Given the description of an element on the screen output the (x, y) to click on. 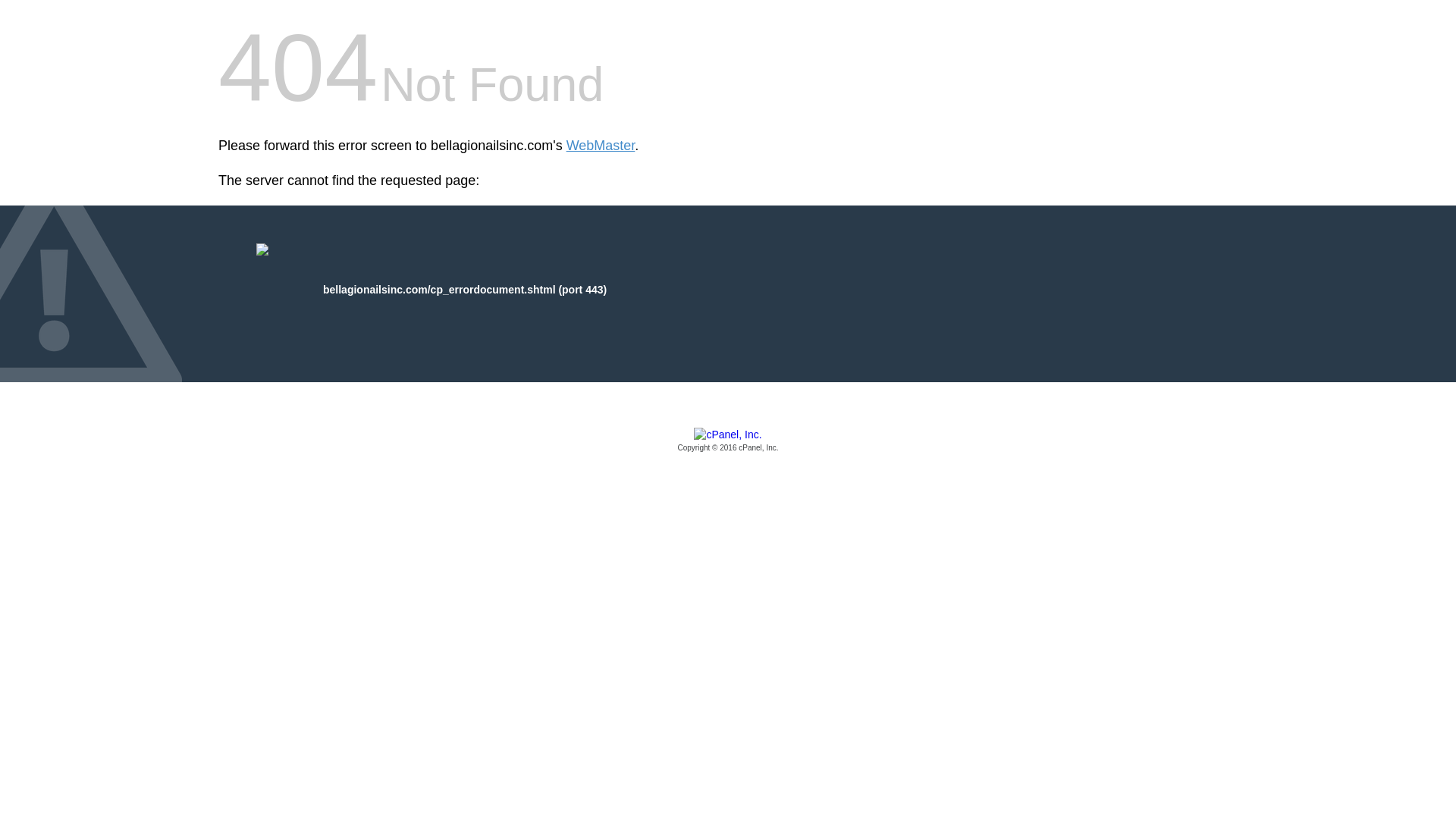
cPanel, Inc. (727, 440)
WebMaster (600, 145)
